Given the description of an element on the screen output the (x, y) to click on. 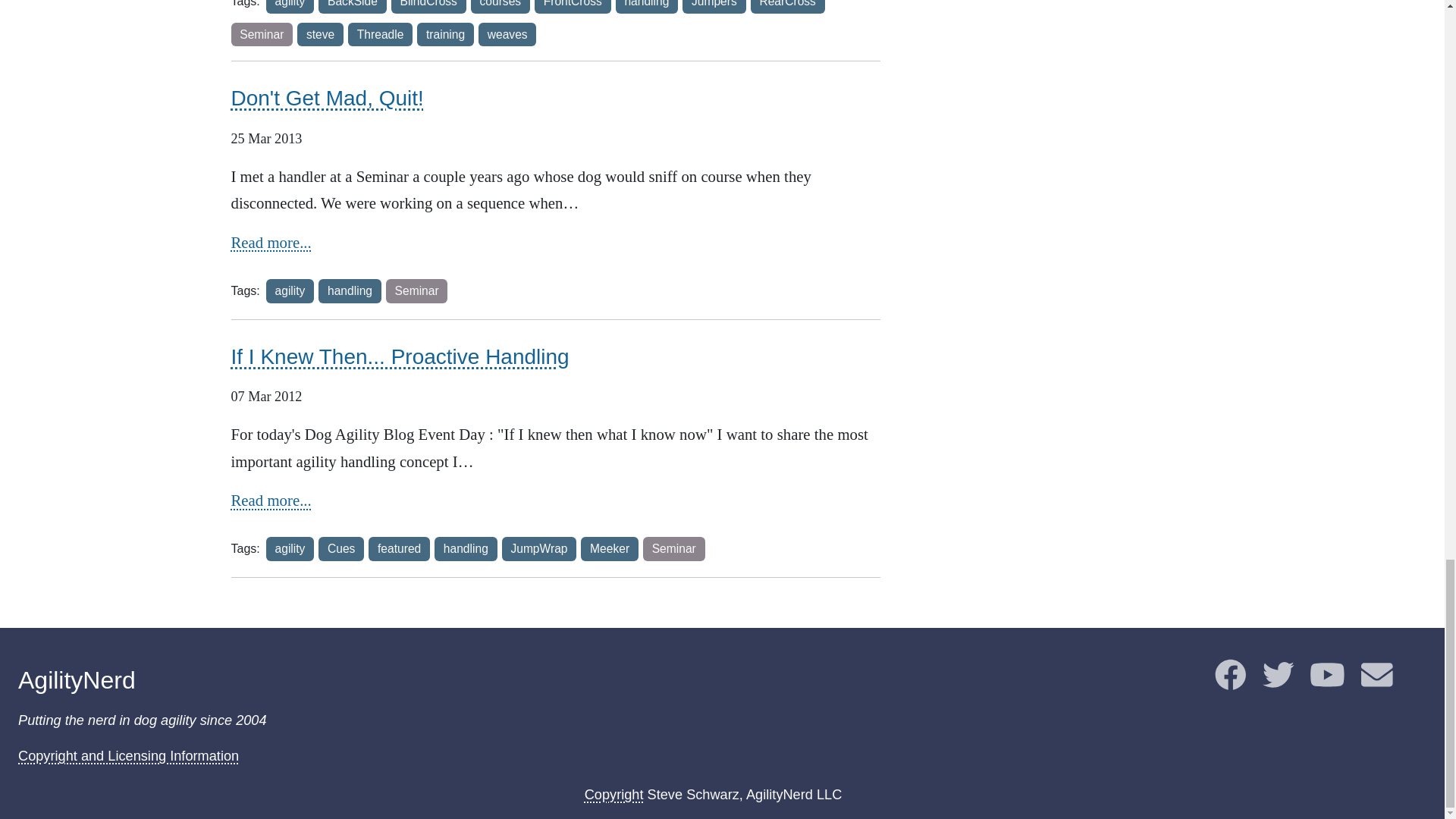
YouTube (1326, 681)
Email (1377, 681)
Twitter (1278, 681)
Facebook (1230, 681)
